Given the description of an element on the screen output the (x, y) to click on. 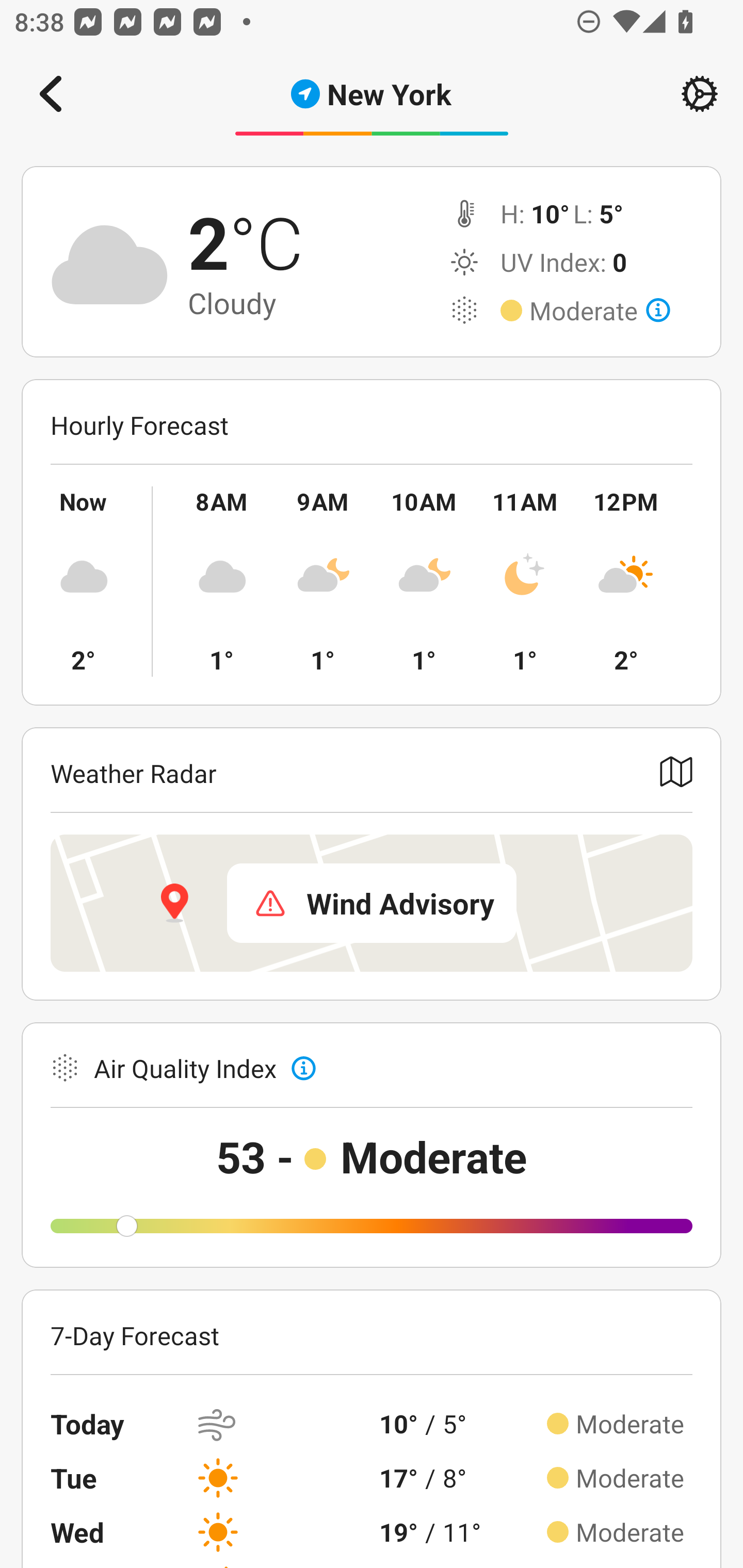
Navigate up (50, 93)
Setting (699, 93)
Moderate (599, 310)
Wind Advisory (371, 903)
